Given the description of an element on the screen output the (x, y) to click on. 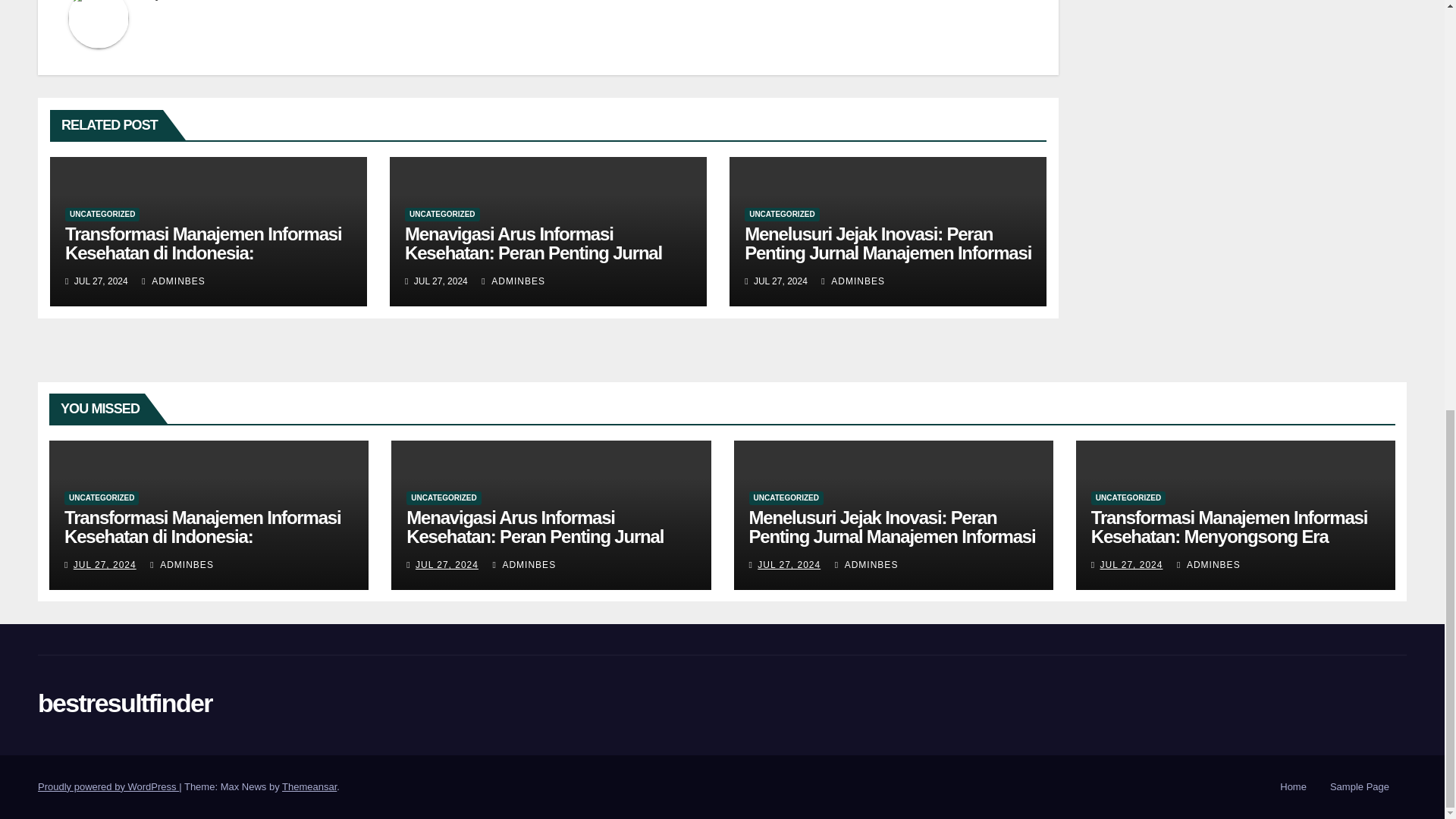
ADMINBES (512, 281)
UNCATEGORIZED (441, 214)
UNCATEGORIZED (781, 214)
ADMINBES (173, 281)
adminbes (185, 0)
ADMINBES (853, 281)
Home (1293, 786)
